Given the description of an element on the screen output the (x, y) to click on. 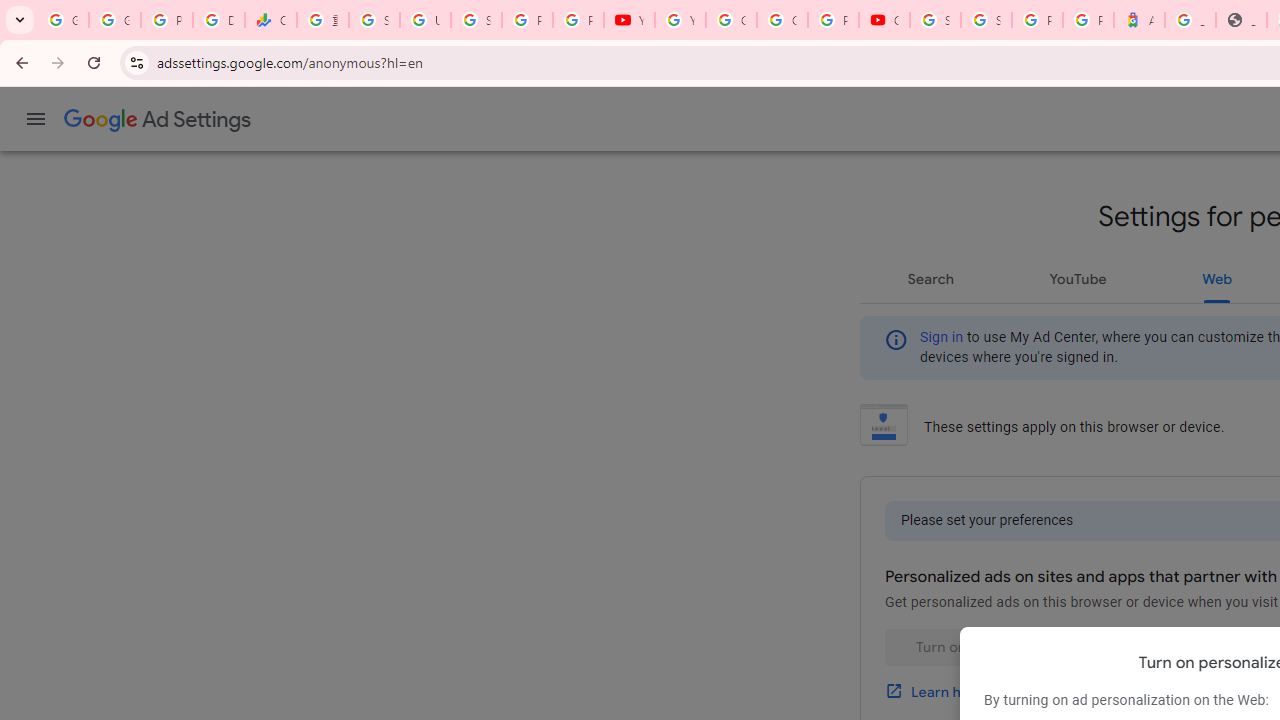
YouTube (680, 20)
YouTube (629, 20)
Currencies - Google Finance (270, 20)
Sign in - Google Accounts (986, 20)
Privacy Checkup (578, 20)
Sign in - Google Accounts (935, 20)
Google Account Help (731, 20)
Content Creator Programs & Opportunities - YouTube Creators (884, 20)
Atour Hotel - Google hotels (1138, 20)
